Given the description of an element on the screen output the (x, y) to click on. 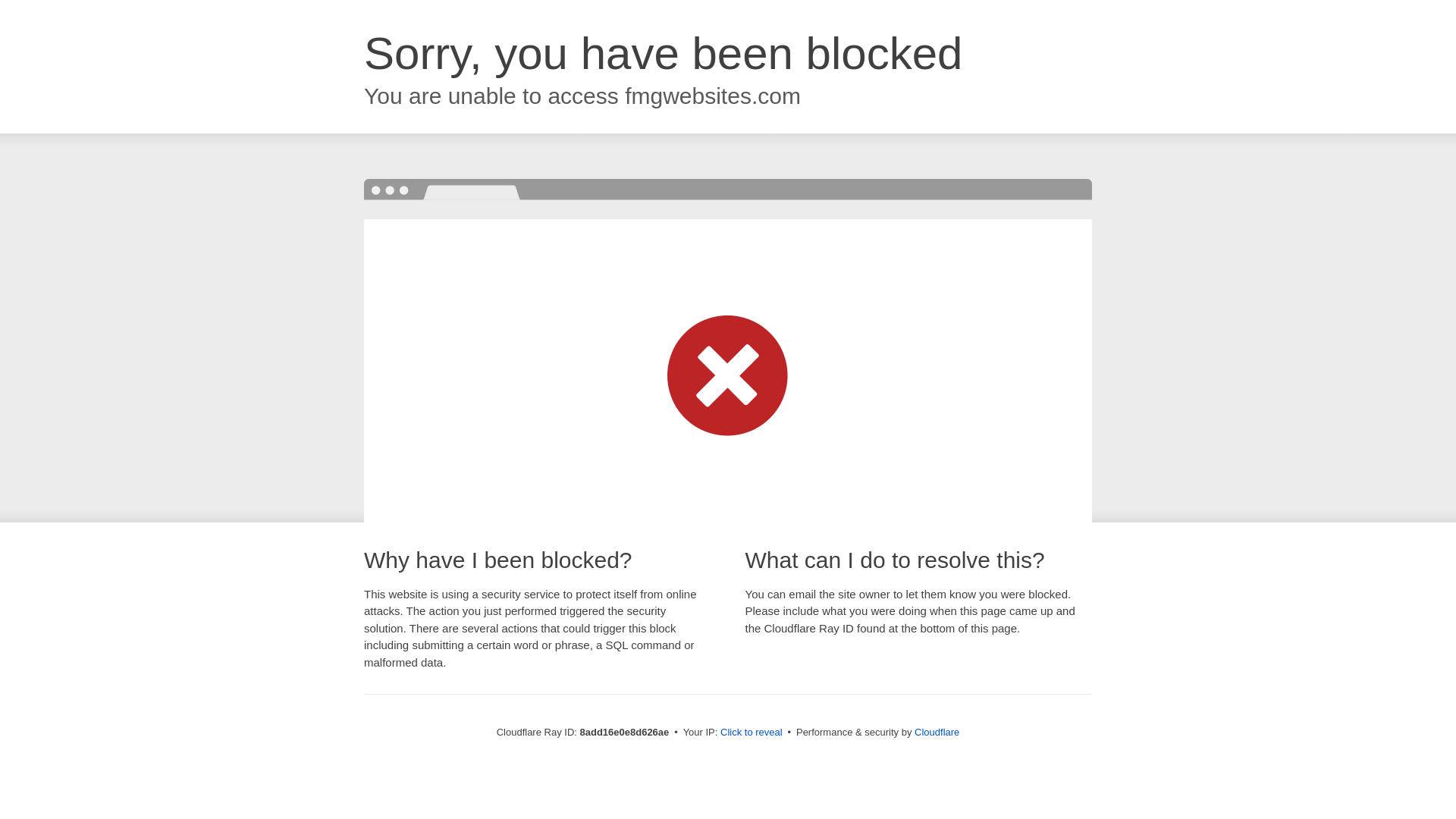
Click to reveal (751, 732)
Cloudflare (936, 731)
